Given the description of an element on the screen output the (x, y) to click on. 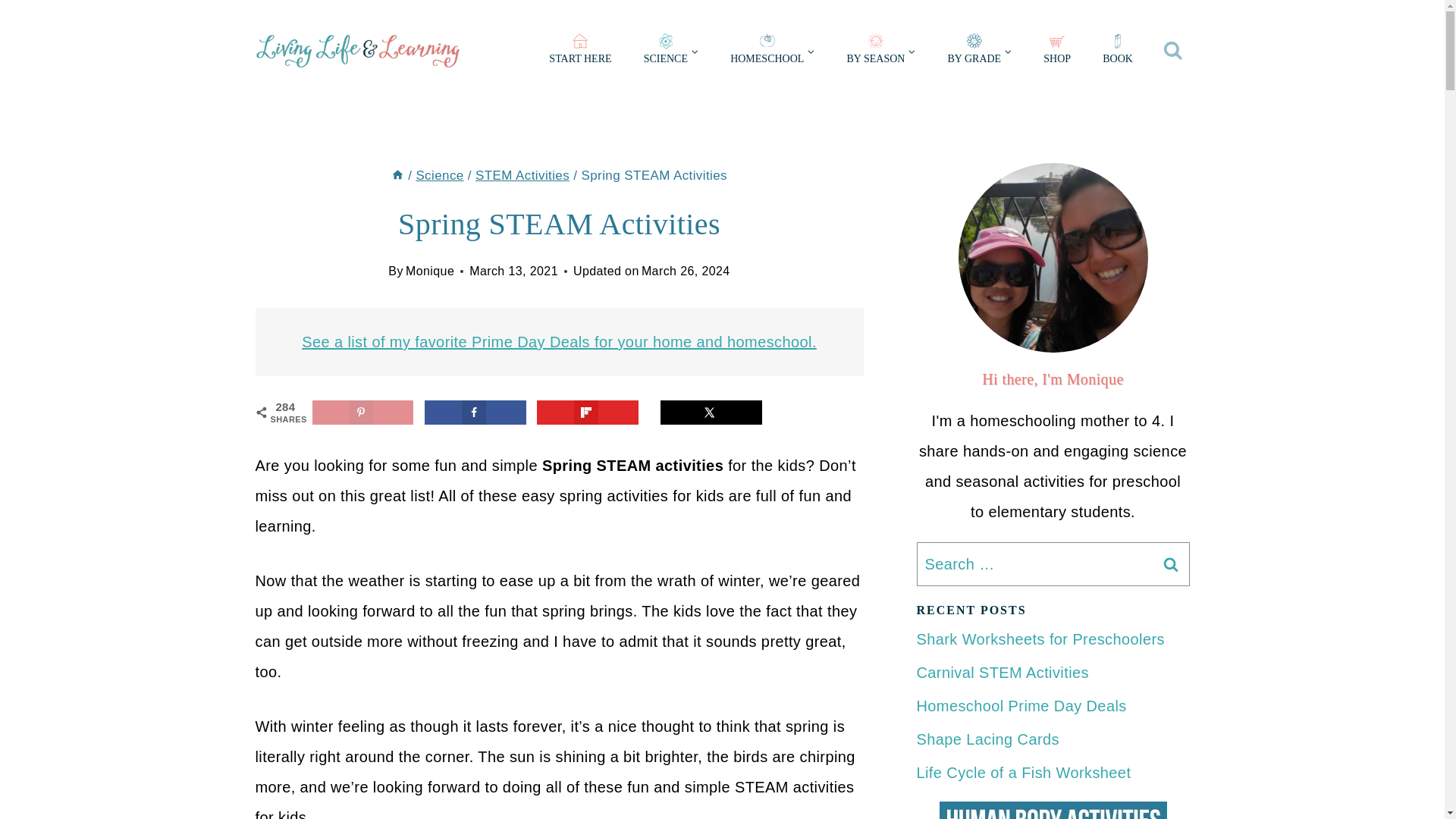
Search (1170, 564)
BY SEASON (880, 51)
Share on Flipboard (588, 412)
Search (1170, 564)
The Living Life and Learning Shop (1056, 51)
New to homeschool? Start here (579, 51)
BY GRADE (979, 51)
Save to Pinterest (363, 412)
SCIENCE (670, 51)
Homeschool Planning Book (1117, 51)
Homeschooling Ideas (771, 51)
HOMESCHOOL (771, 51)
Share on X (711, 412)
Home (397, 175)
Share on Facebook (475, 412)
